Given the description of an element on the screen output the (x, y) to click on. 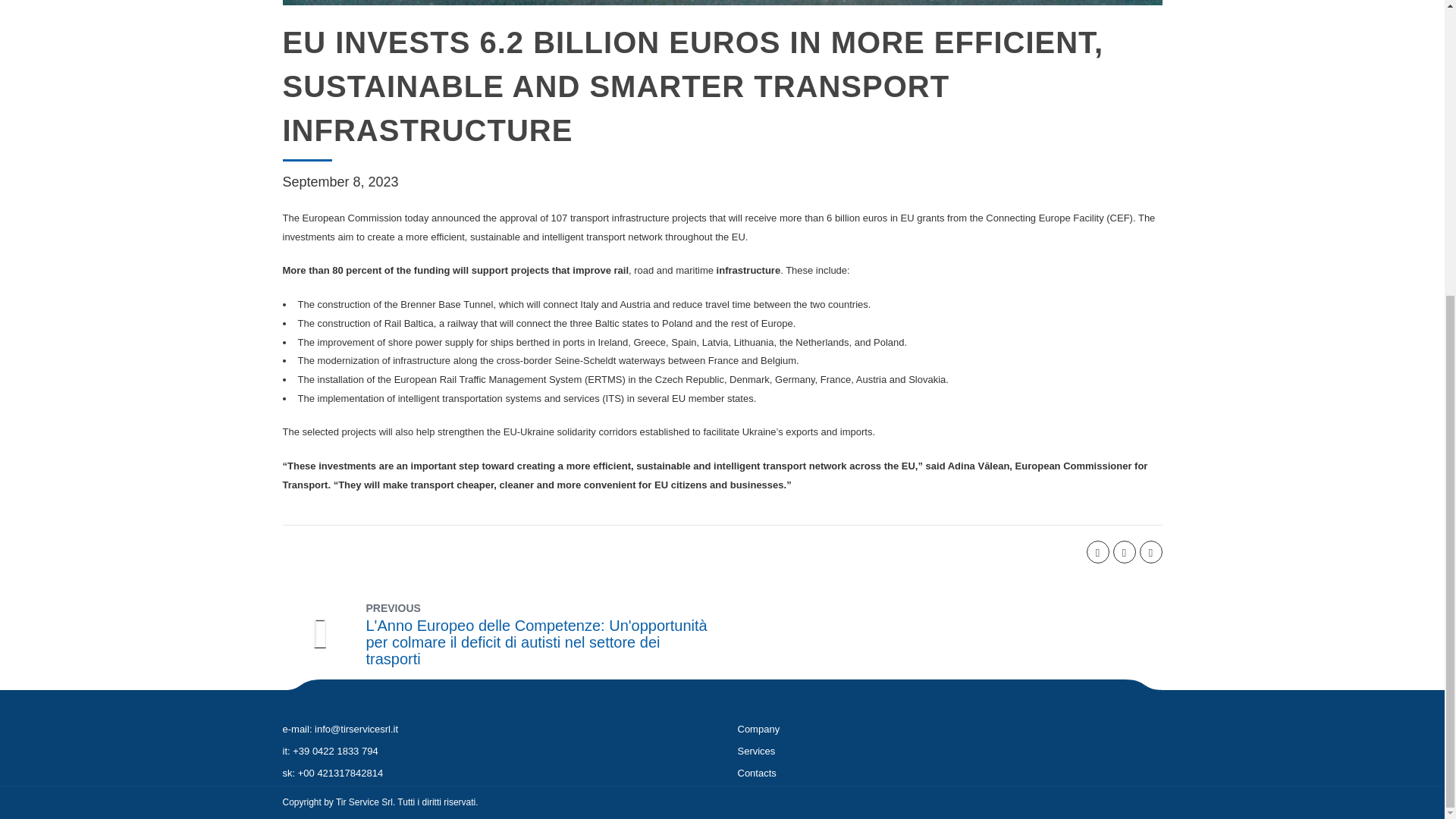
Company (757, 728)
Services (755, 750)
Contacts (756, 772)
